Given the description of an element on the screen output the (x, y) to click on. 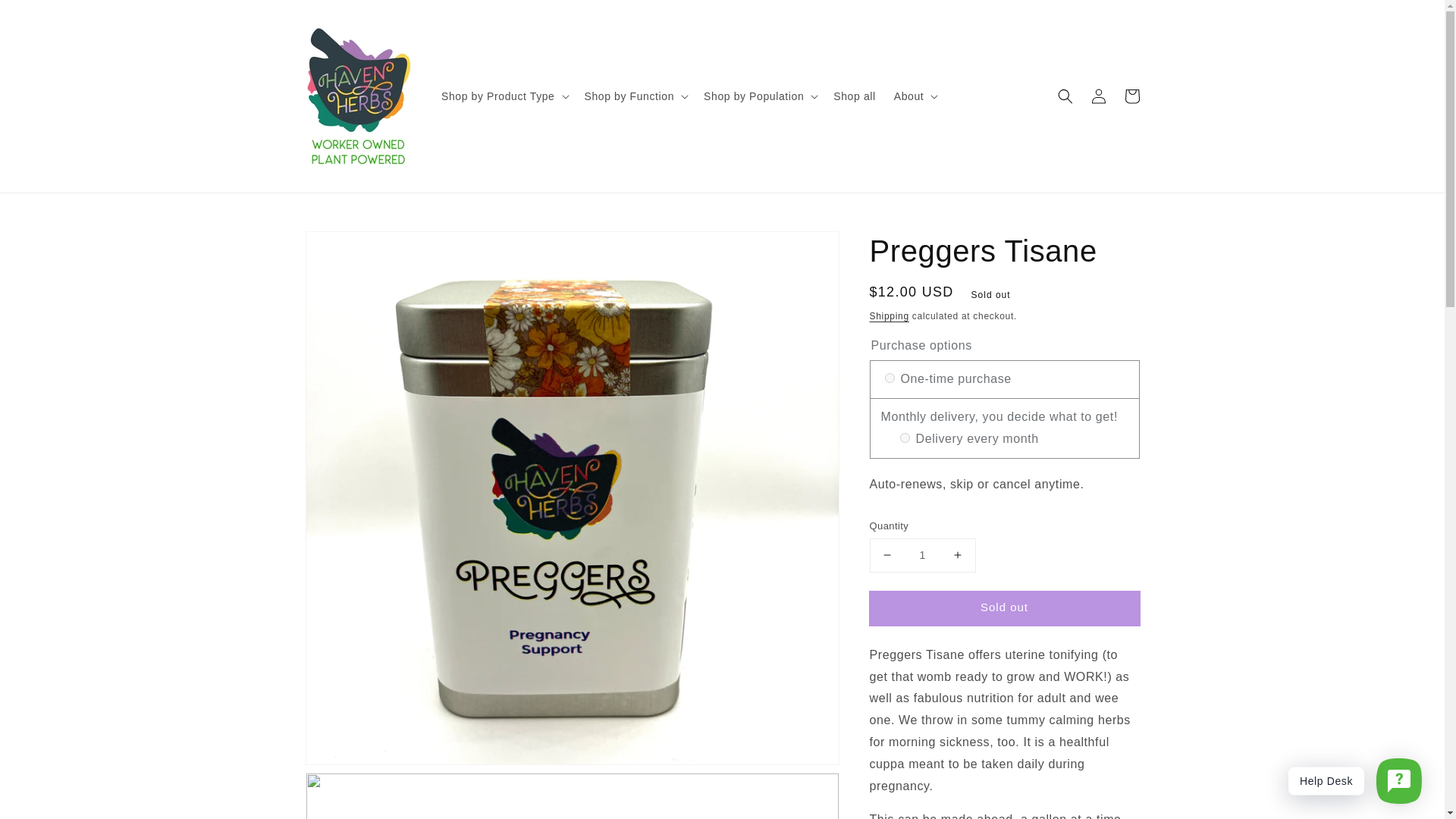
1 (922, 554)
on (888, 378)
on (903, 438)
Skip to content (45, 16)
